Given the description of an element on the screen output the (x, y) to click on. 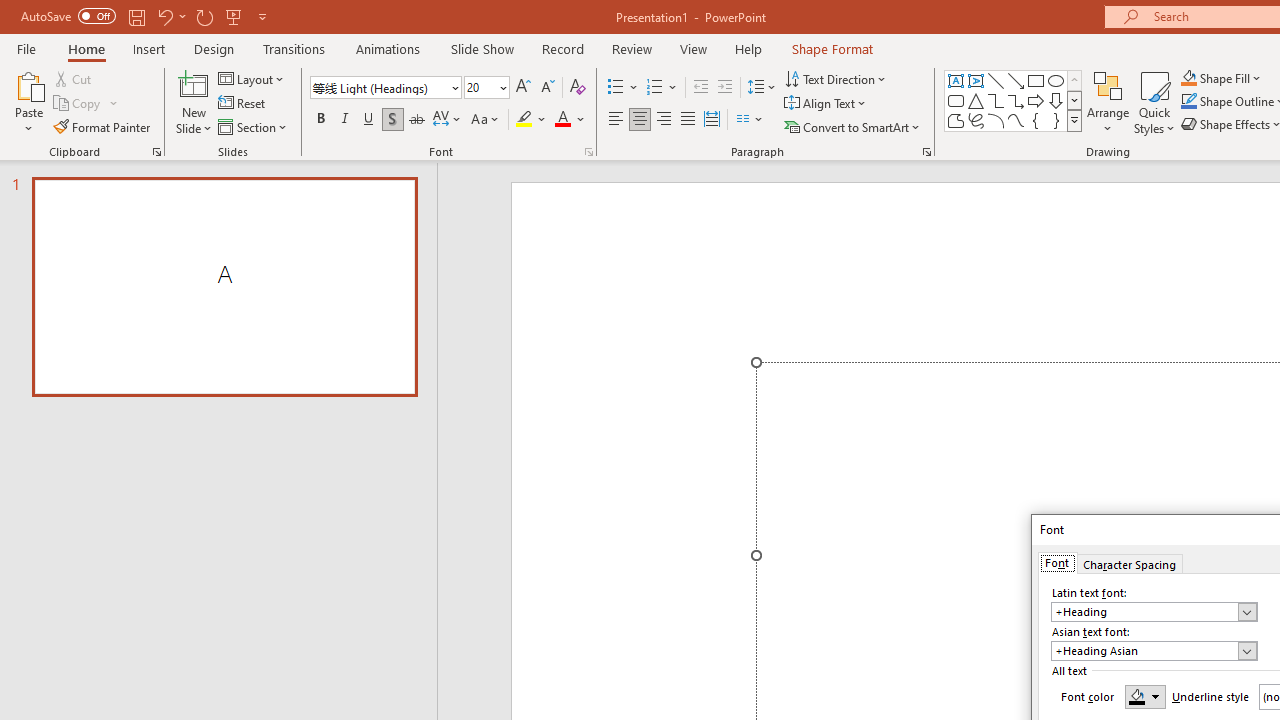
Asian text font (1144, 651)
Latin text font (1144, 611)
